Given the description of an element on the screen output the (x, y) to click on. 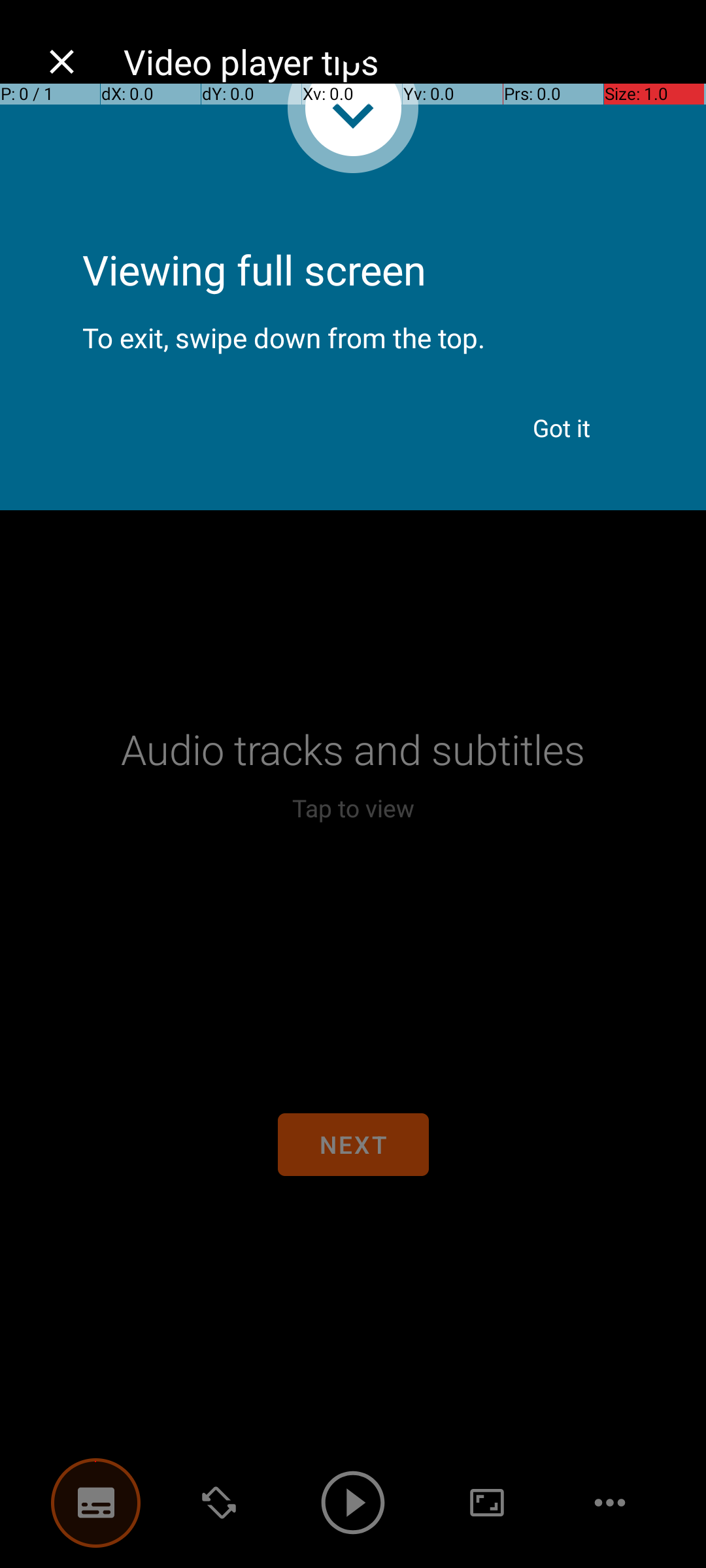
Video player tips Element type: android.widget.TextView (400, 61)
Audio tracks and subtitles Element type: android.widget.TextView (352, 748)
Tap to view Element type: android.widget.TextView (353, 807)
advanced options Element type: android.widget.ImageView (486, 1502)
Viewing full screen Element type: android.widget.TextView (353, 235)
To exit, swipe down from the top. Element type: android.widget.TextView (353, 326)
Got it Element type: android.widget.Button (561, 427)
